Given the description of an element on the screen output the (x, y) to click on. 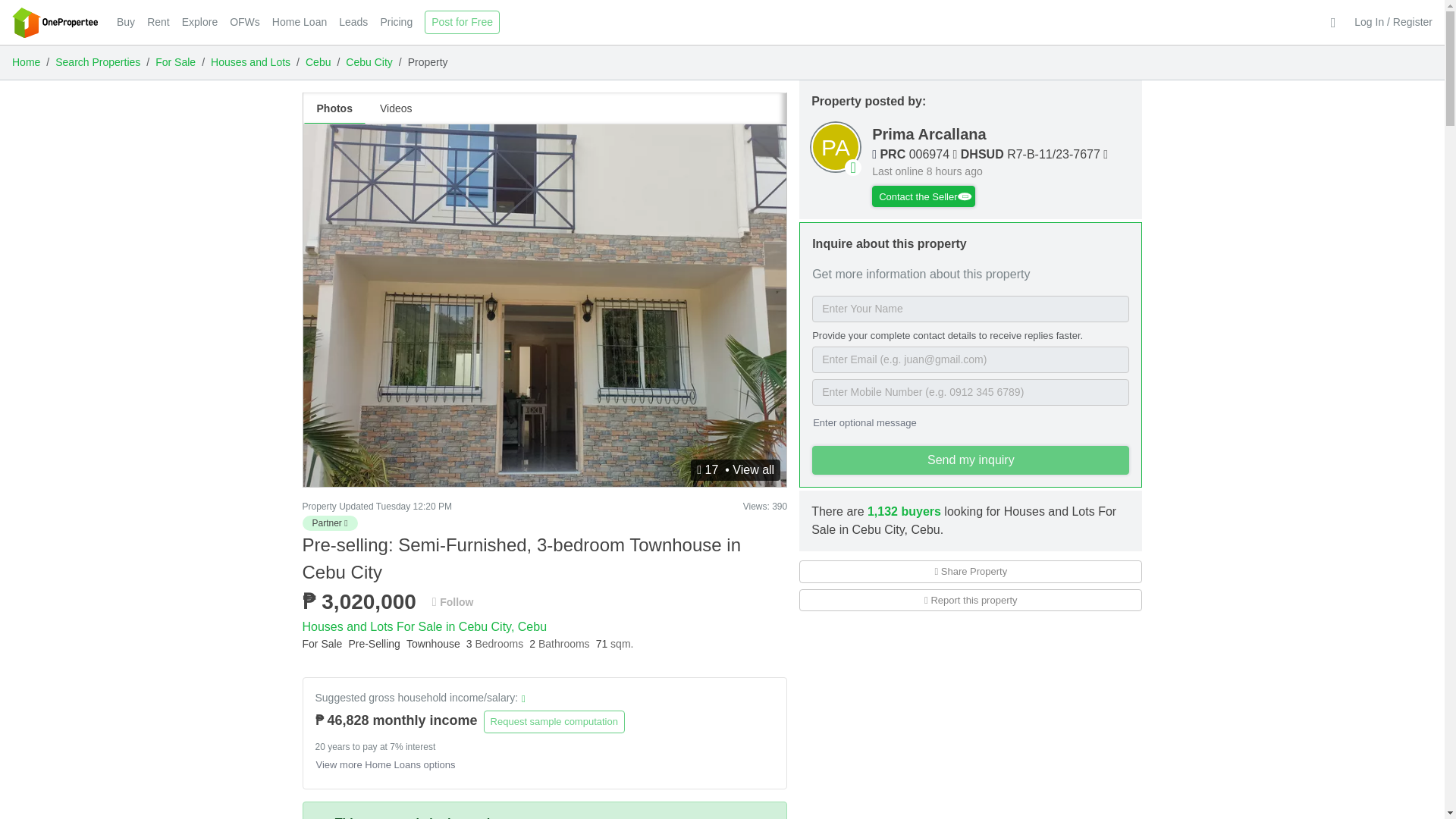
Send my inquiry (970, 460)
Real Estate Profile of Prima Arcallana (835, 146)
Request sample computation (553, 721)
Enter optional message (867, 422)
Rent (158, 22)
1,132 buyers (903, 511)
Prima Arcallana (928, 134)
OFWs (245, 22)
Videos (396, 108)
Home Loan (299, 22)
